Given the description of an element on the screen output the (x, y) to click on. 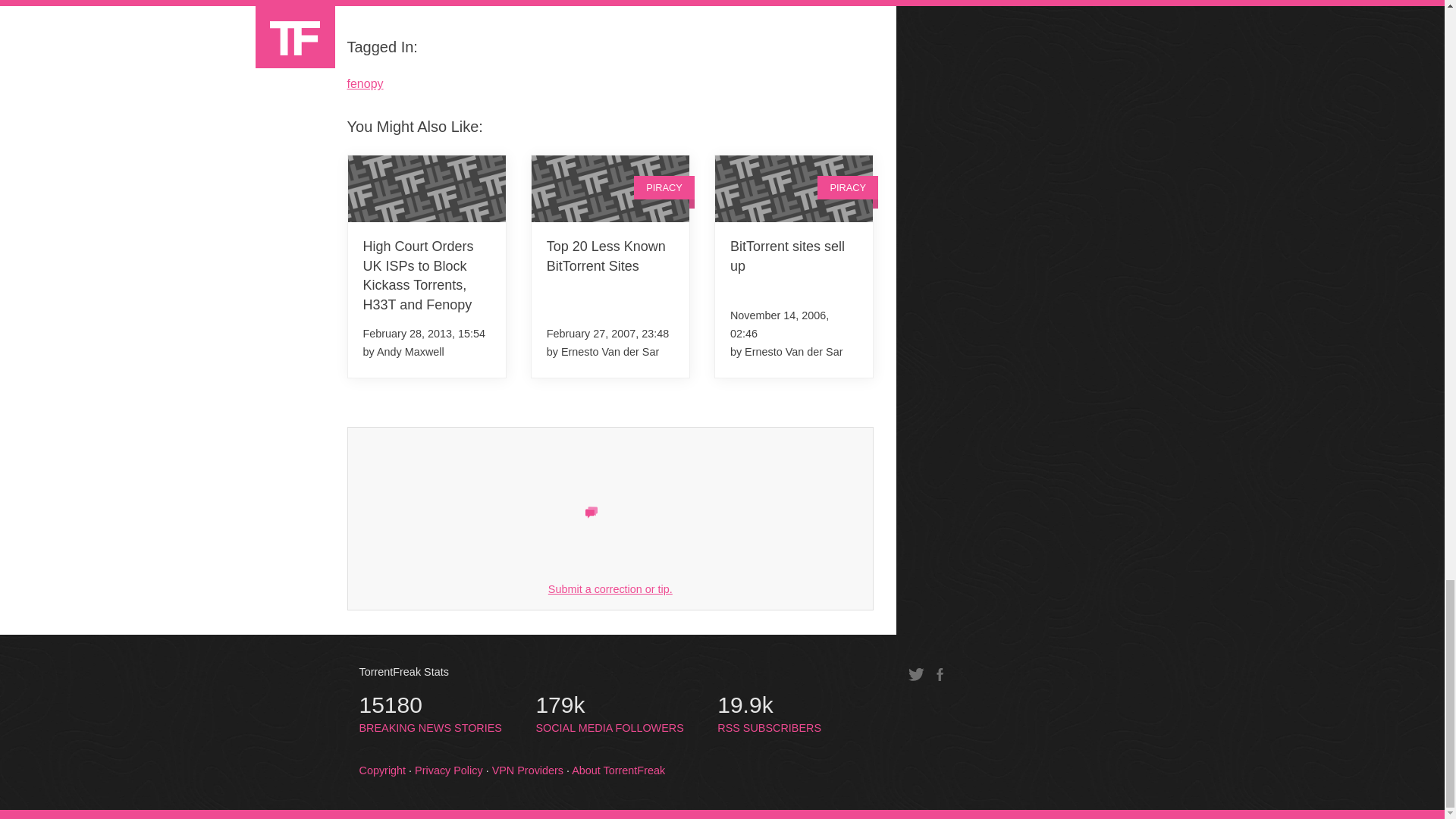
Submit a correction or tip. (430, 714)
fenopy (769, 714)
Privacy Policy (610, 589)
Copyright (608, 714)
Next Post (365, 83)
Previous Post (448, 770)
